Given the description of an element on the screen output the (x, y) to click on. 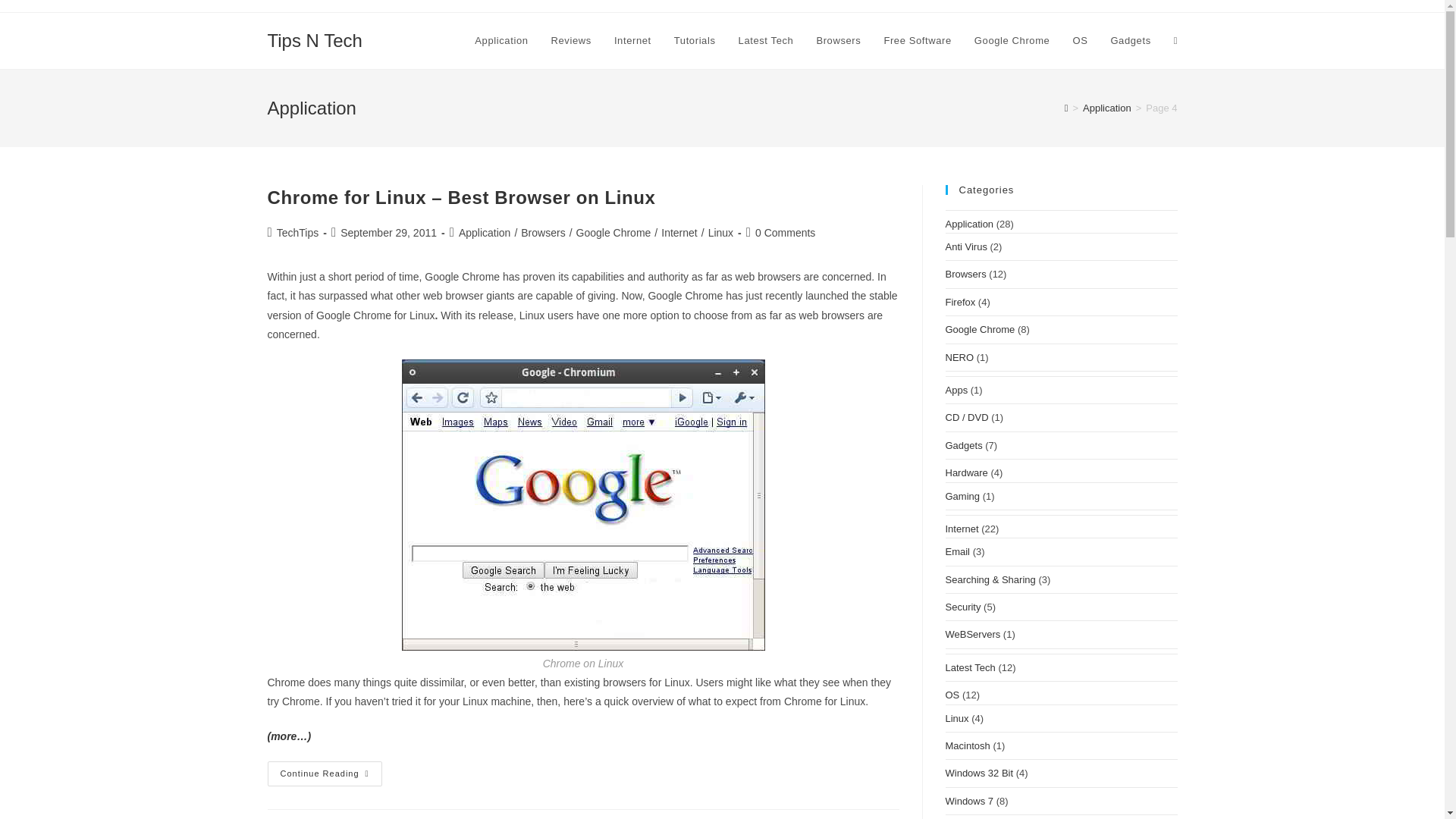
Browsers (542, 232)
Google Chrome (613, 232)
Google Chrome (1011, 40)
Internet (679, 232)
Tutorials (694, 40)
Gadgets (1130, 40)
Latest Tech (765, 40)
Application (500, 40)
Application (484, 232)
Internet (632, 40)
